Given the description of an element on the screen output the (x, y) to click on. 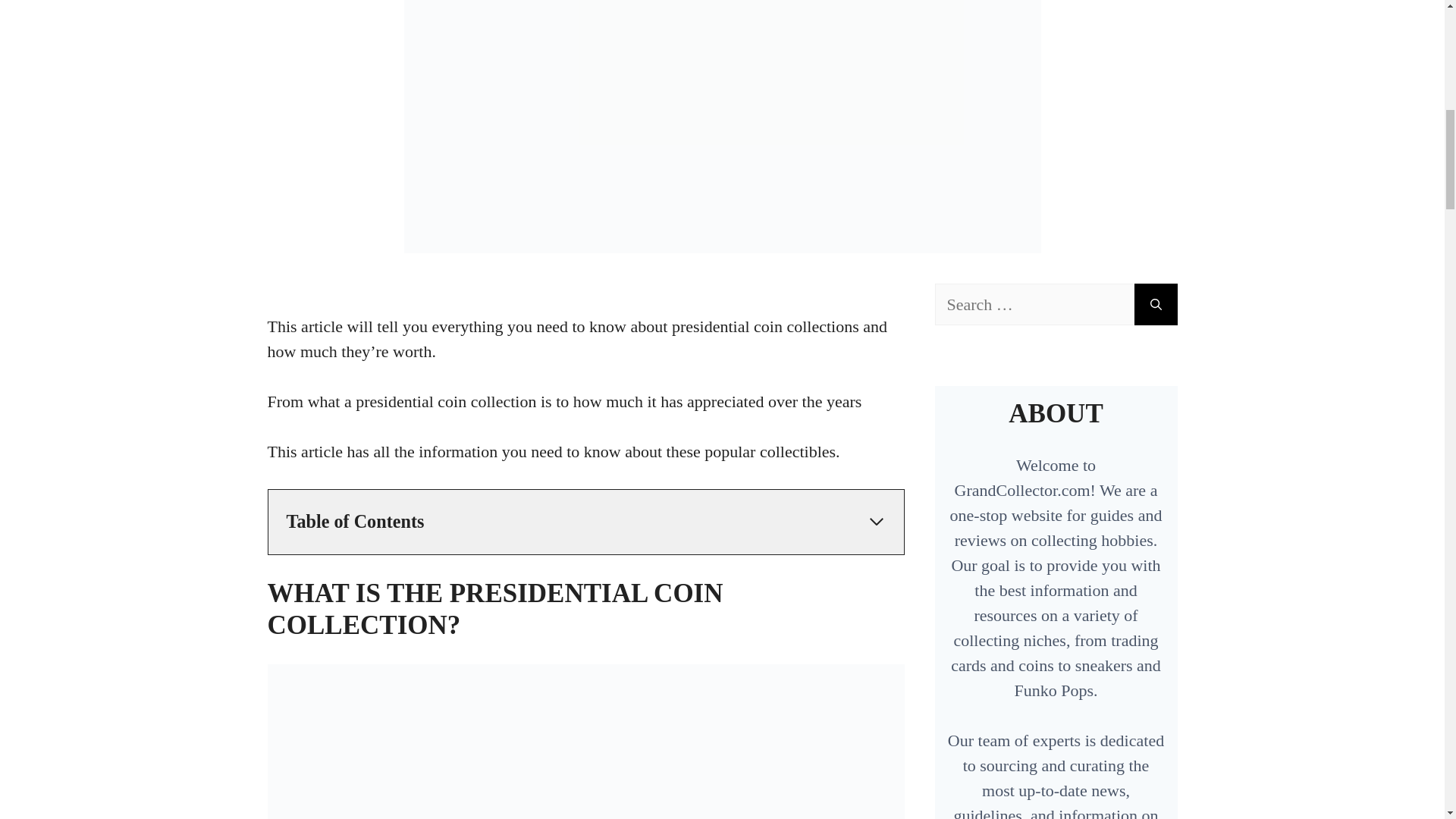
Search for: (1034, 304)
How Much is a Presidential Coin Collection Worth? 2 (585, 741)
